Given the description of an element on the screen output the (x, y) to click on. 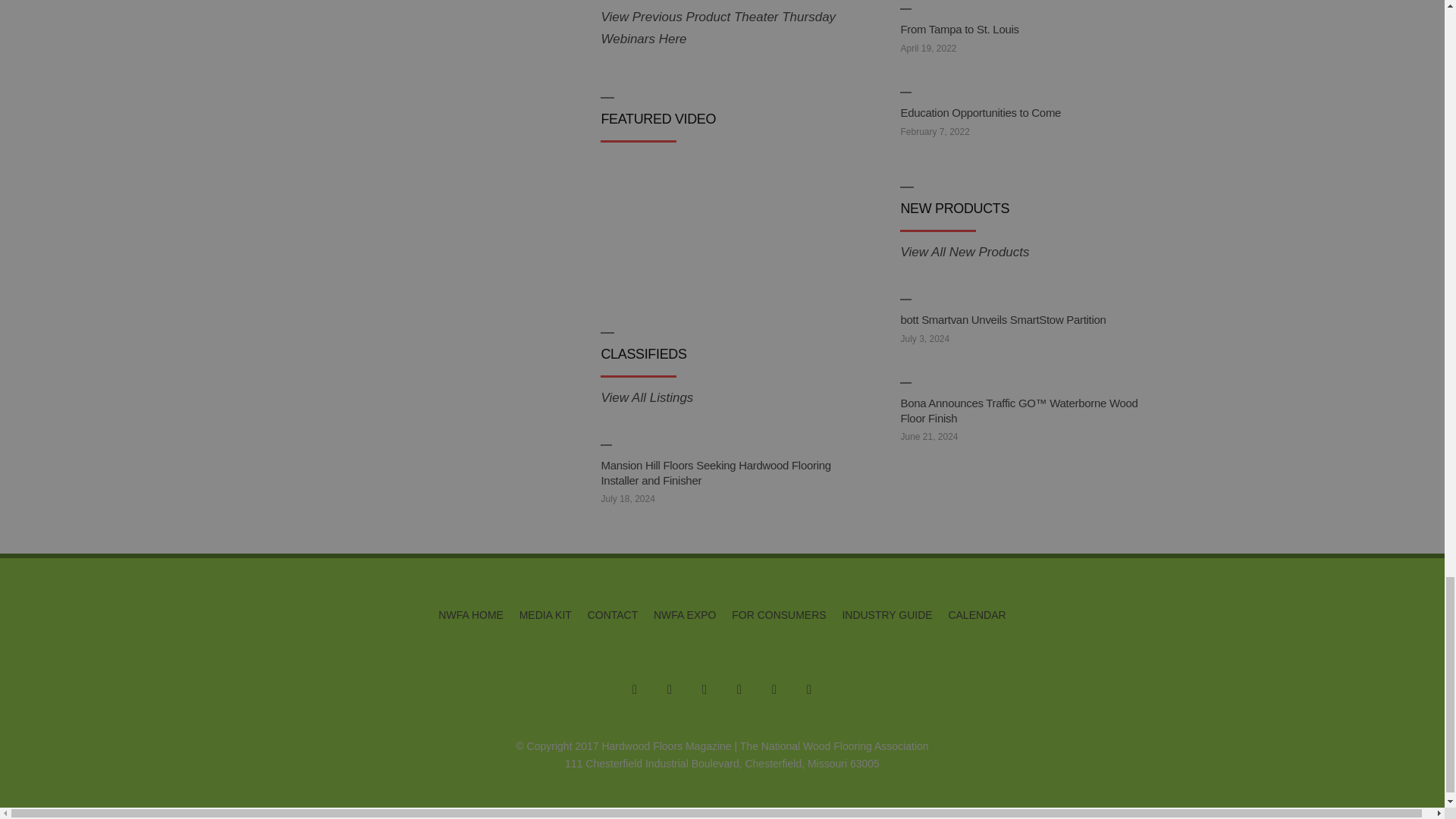
PODCASTS (376, 57)
